Given the description of an element on the screen output the (x, y) to click on. 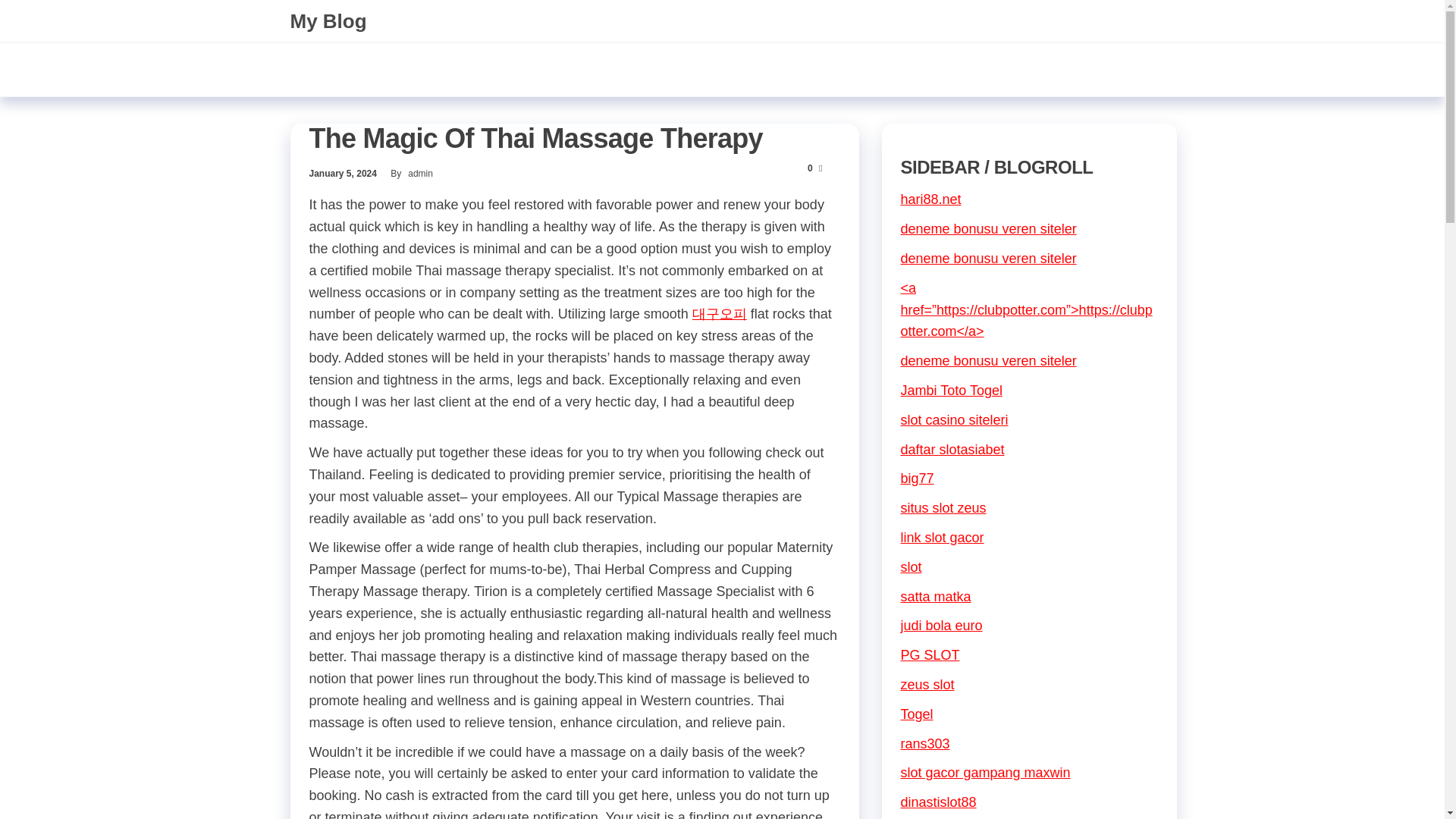
Togel (917, 713)
deneme bonusu veren siteler (989, 360)
zeus slot (928, 684)
link slot gacor (942, 537)
admin (419, 173)
judi bola euro (941, 625)
satta matka (936, 596)
situs slot zeus (944, 507)
daftar slotasiabet (952, 449)
deneme bonusu veren siteler (989, 228)
Jambi Toto Togel (952, 390)
slot gacor gampang maxwin (985, 772)
PG SLOT (930, 654)
big77 (917, 478)
My Blog (327, 20)
